Given the description of an element on the screen output the (x, y) to click on. 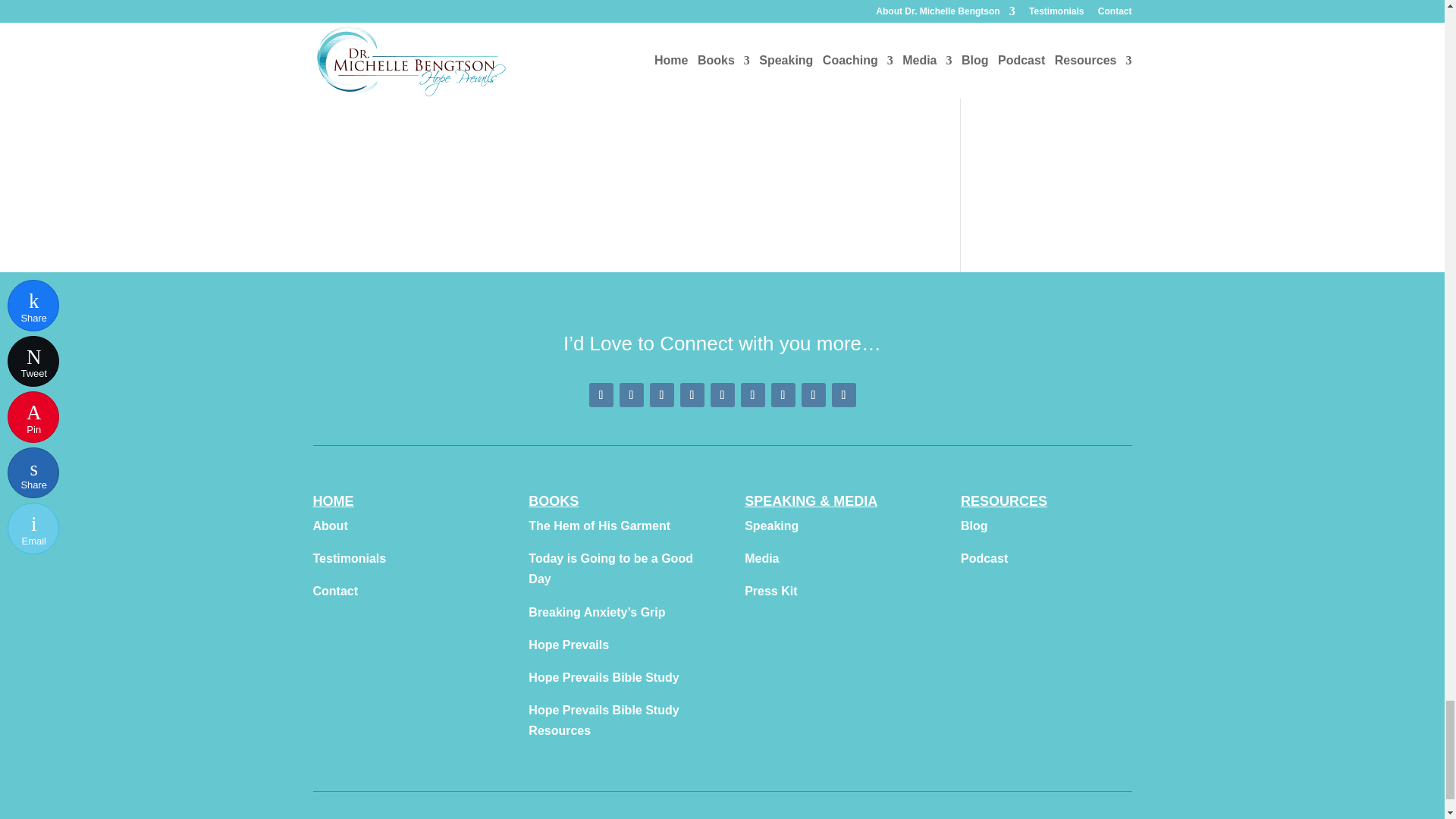
Follow on Twitter (721, 395)
Follow on Podcast (782, 395)
Comment Form (614, 72)
Follow on BookBub (843, 395)
Follow on Amazon (812, 395)
Follow on Instagram (660, 395)
Follow on Pinterest (630, 395)
Follow on Facebook (600, 395)
Follow on LinkedIn (751, 395)
Follow on Youtube (691, 395)
